Given the description of an element on the screen output the (x, y) to click on. 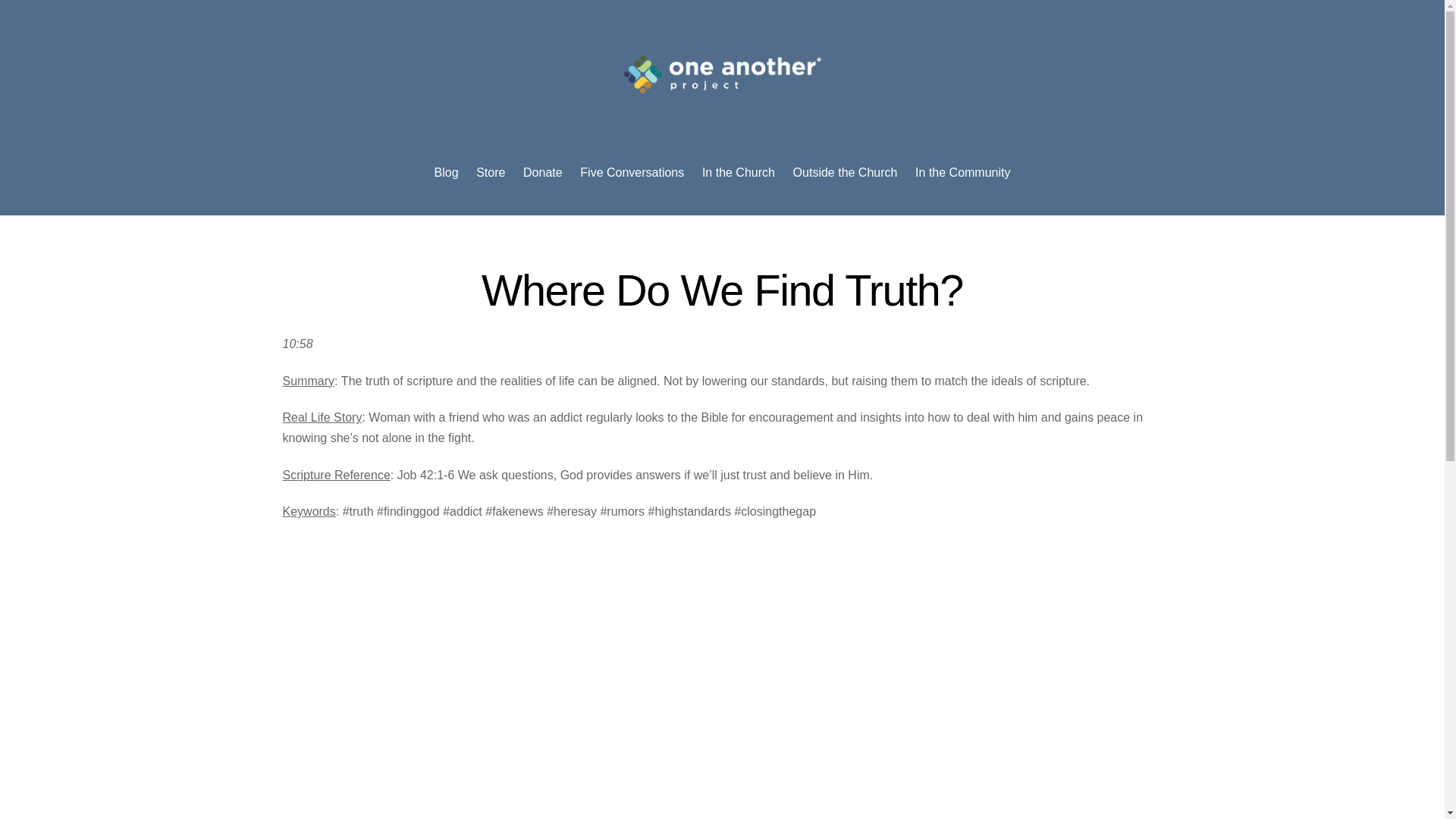
Outside the Church (845, 172)
Five Conversations (632, 172)
Blog (445, 172)
Donate (542, 172)
Where Do We Find Truth? (721, 290)
One Another Project (721, 97)
Store (490, 172)
In the Church (737, 172)
In the Community (962, 172)
One Another Project (721, 74)
